Given the description of an element on the screen output the (x, y) to click on. 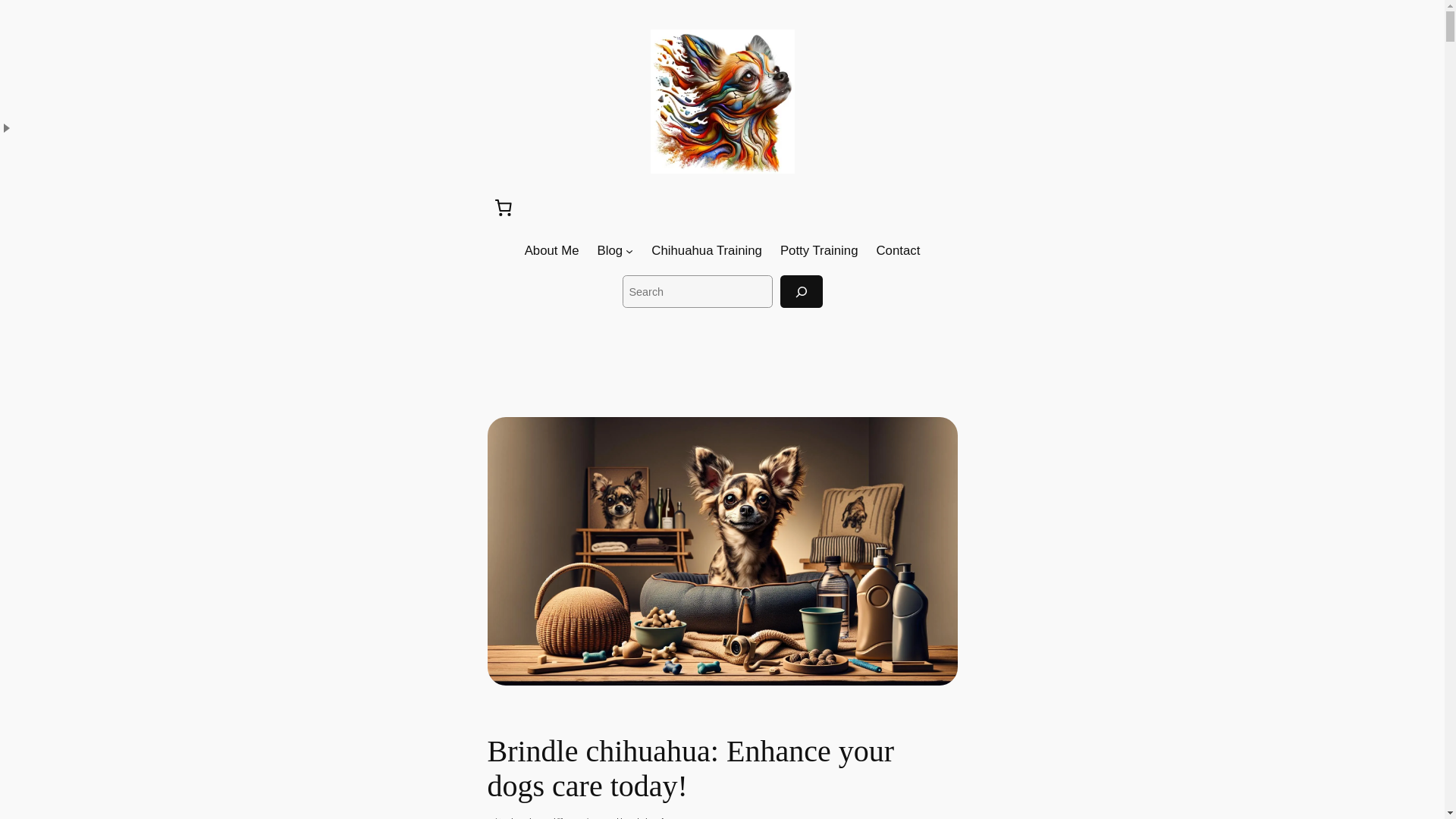
Chihuahua Training (705, 250)
Contact (898, 250)
Blog (609, 250)
About Me (551, 250)
Potty Training (819, 250)
